Given the description of an element on the screen output the (x, y) to click on. 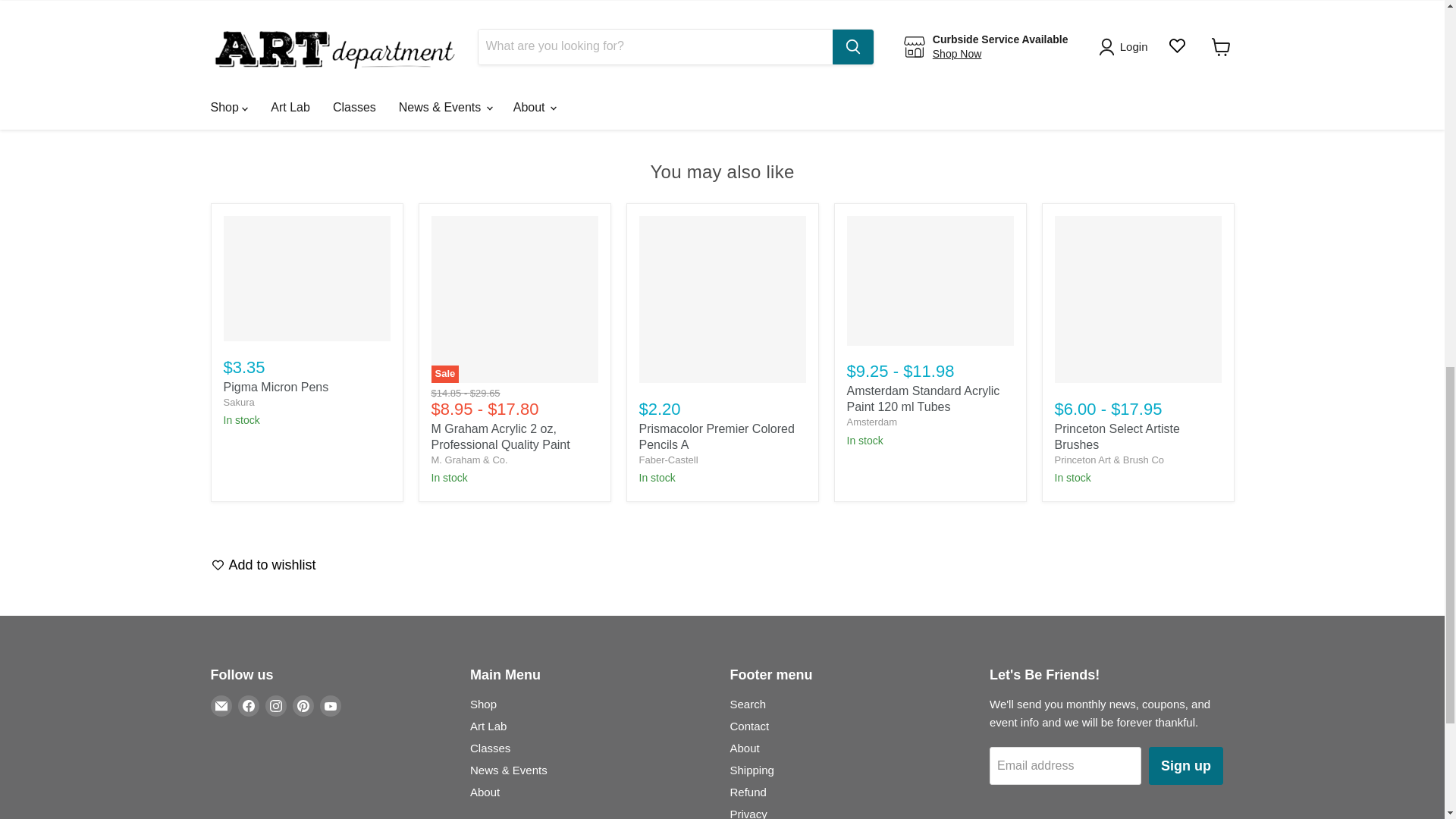
Sakura (237, 401)
Facebook (248, 705)
YouTube (330, 705)
Faber-Castell (668, 460)
Instagram (275, 705)
Pinterest (303, 705)
Amsterdam (870, 421)
Email (221, 705)
